Given the description of an element on the screen output the (x, y) to click on. 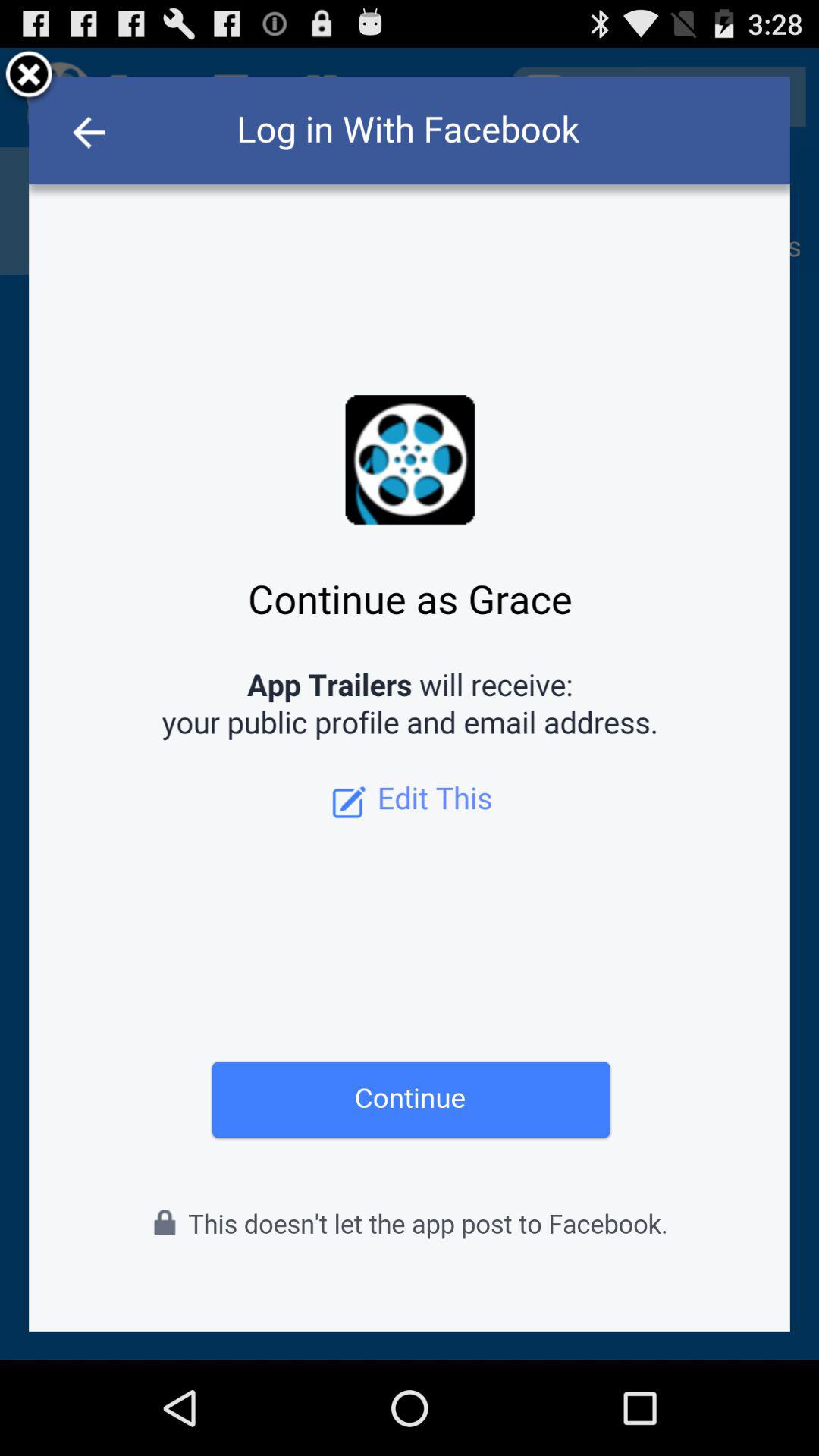
go to close (29, 76)
